Given the description of an element on the screen output the (x, y) to click on. 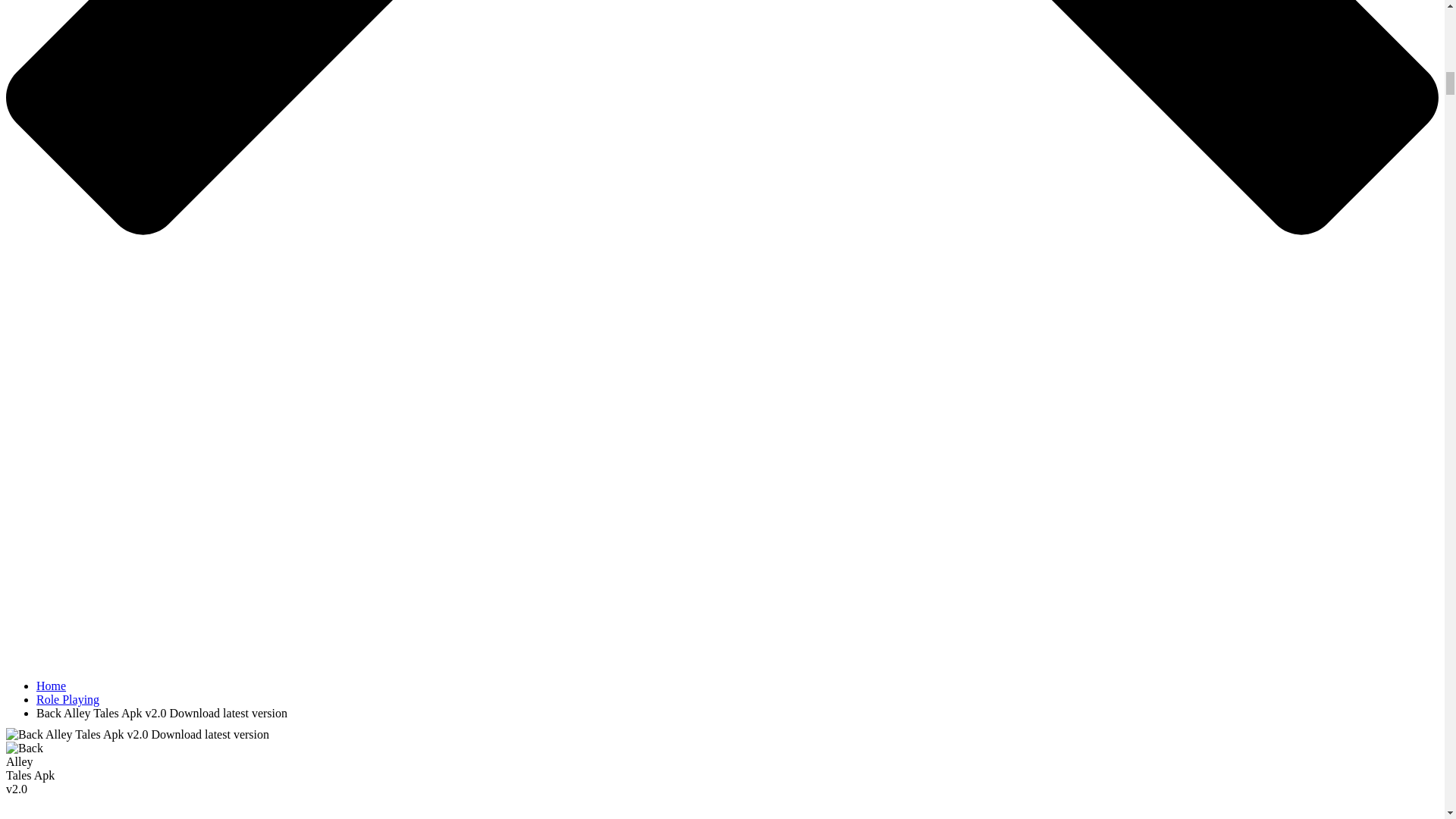
Role Playing (67, 698)
Home (50, 685)
Home (50, 685)
